Given the description of an element on the screen output the (x, y) to click on. 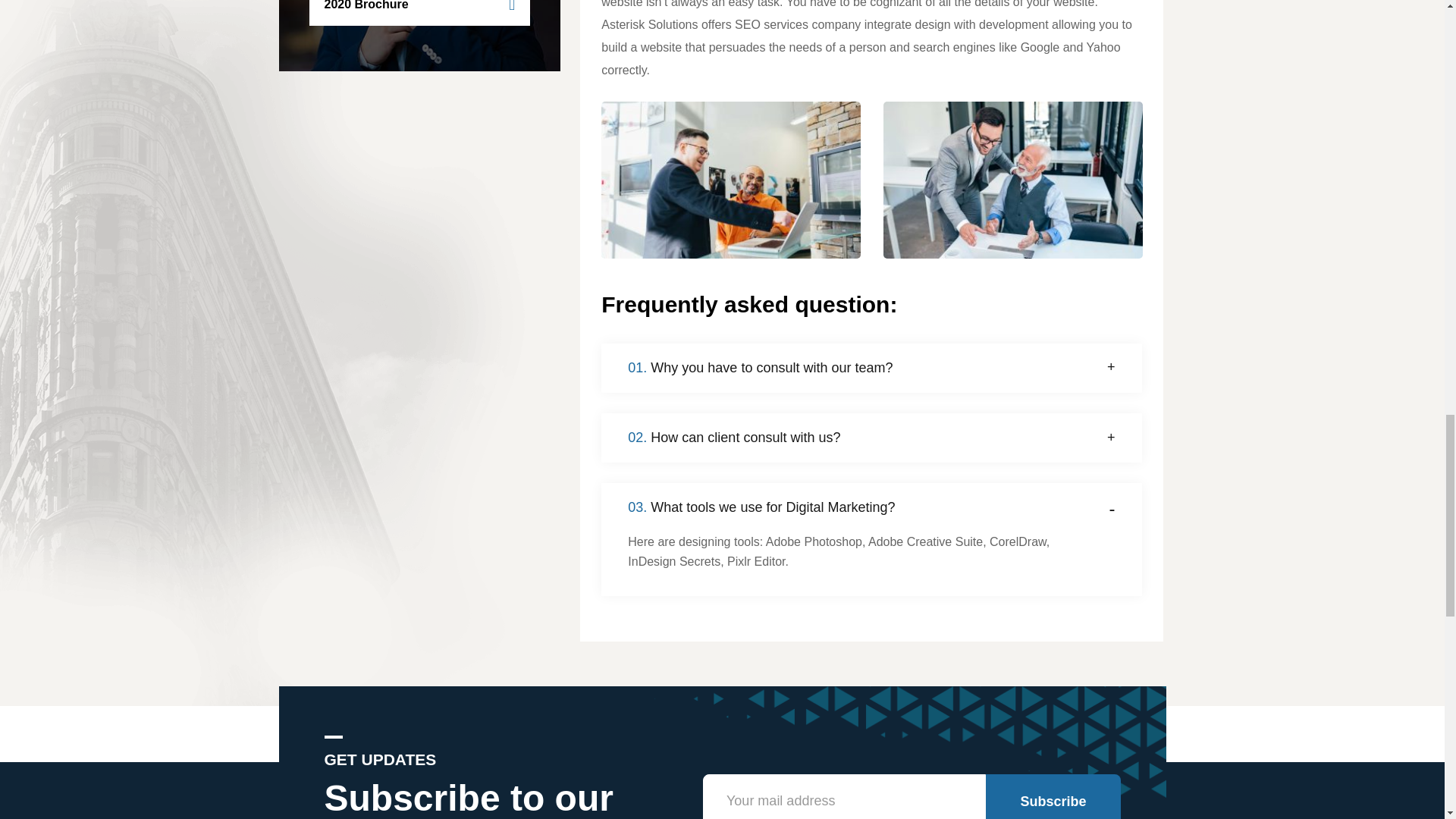
Subscribe (1052, 796)
intime-01 (730, 179)
